Given the description of an element on the screen output the (x, y) to click on. 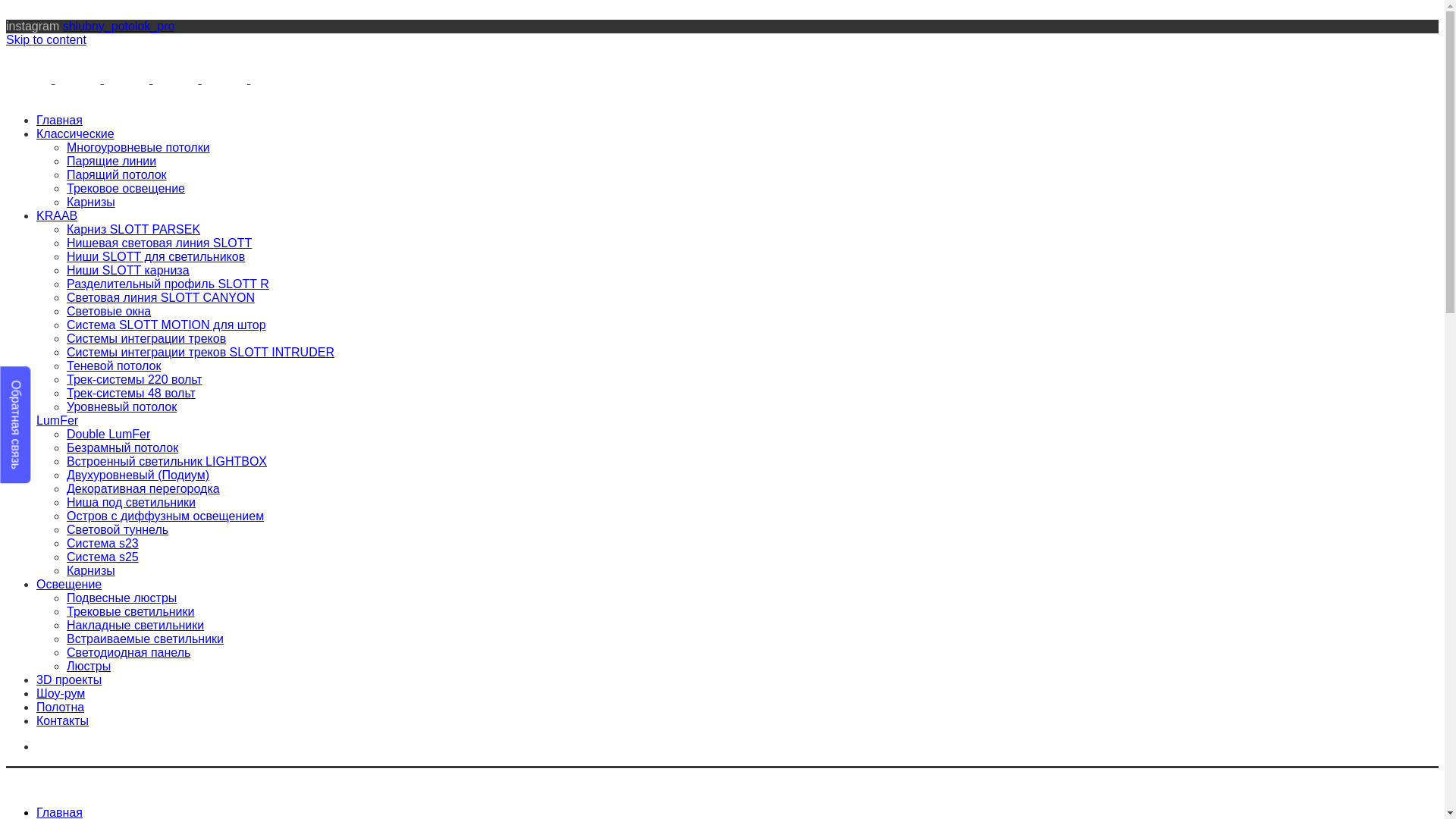
Skip to content Element type: text (46, 39)
LumFer Element type: text (57, 420)
KRAAB Element type: text (56, 215)
shlubny_potolok_pro Element type: text (118, 25)
Double LumFer Element type: text (108, 433)
